Given the description of an element on the screen output the (x, y) to click on. 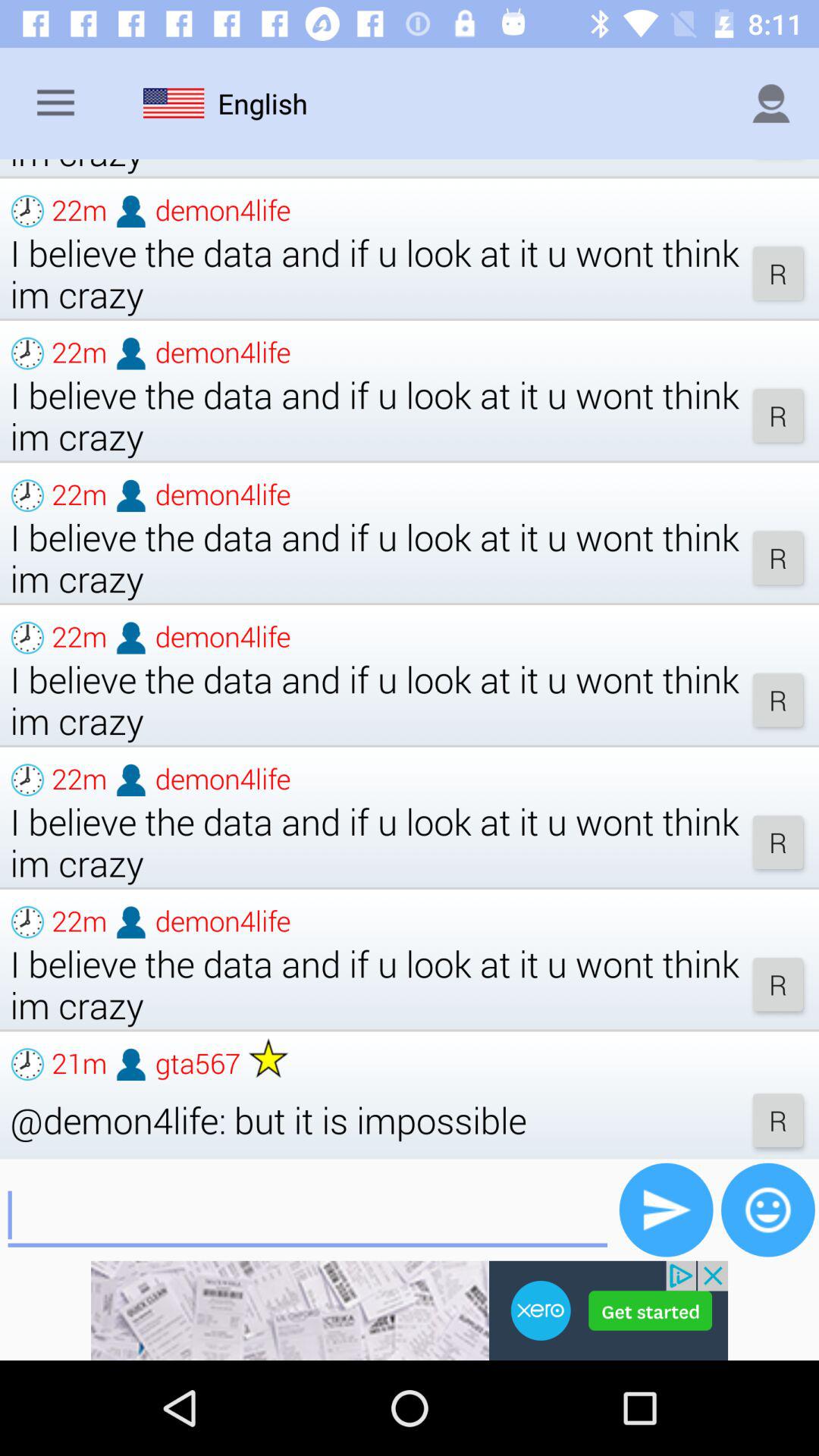
click the r icon in third row (778, 557)
select the second r button in the page (778, 415)
